Given the description of an element on the screen output the (x, y) to click on. 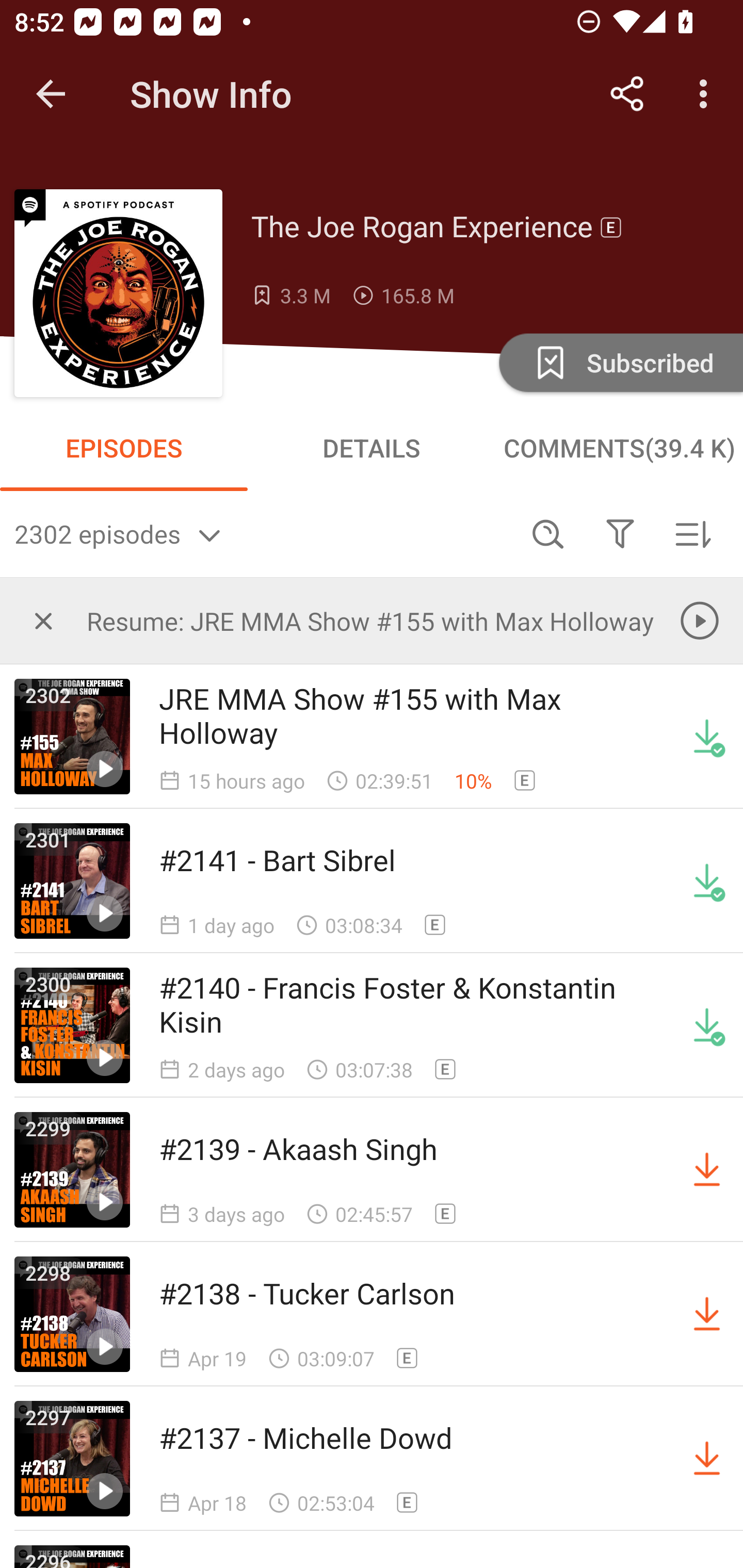
Navigate up (50, 93)
Share (626, 93)
More options (706, 93)
Unsubscribe Subscribed (619, 361)
EPISODES (123, 447)
DETAILS (371, 447)
COMMENTS(39.4 K) (619, 447)
2302 episodes  (262, 533)
 Search (547, 533)
 (619, 533)
 Sorted by newest first (692, 533)
 (43, 620)
Downloaded (706, 736)
Downloaded (706, 881)
Downloaded (706, 1025)
Download (706, 1169)
Download (706, 1313)
Download (706, 1458)
